Given the description of an element on the screen output the (x, y) to click on. 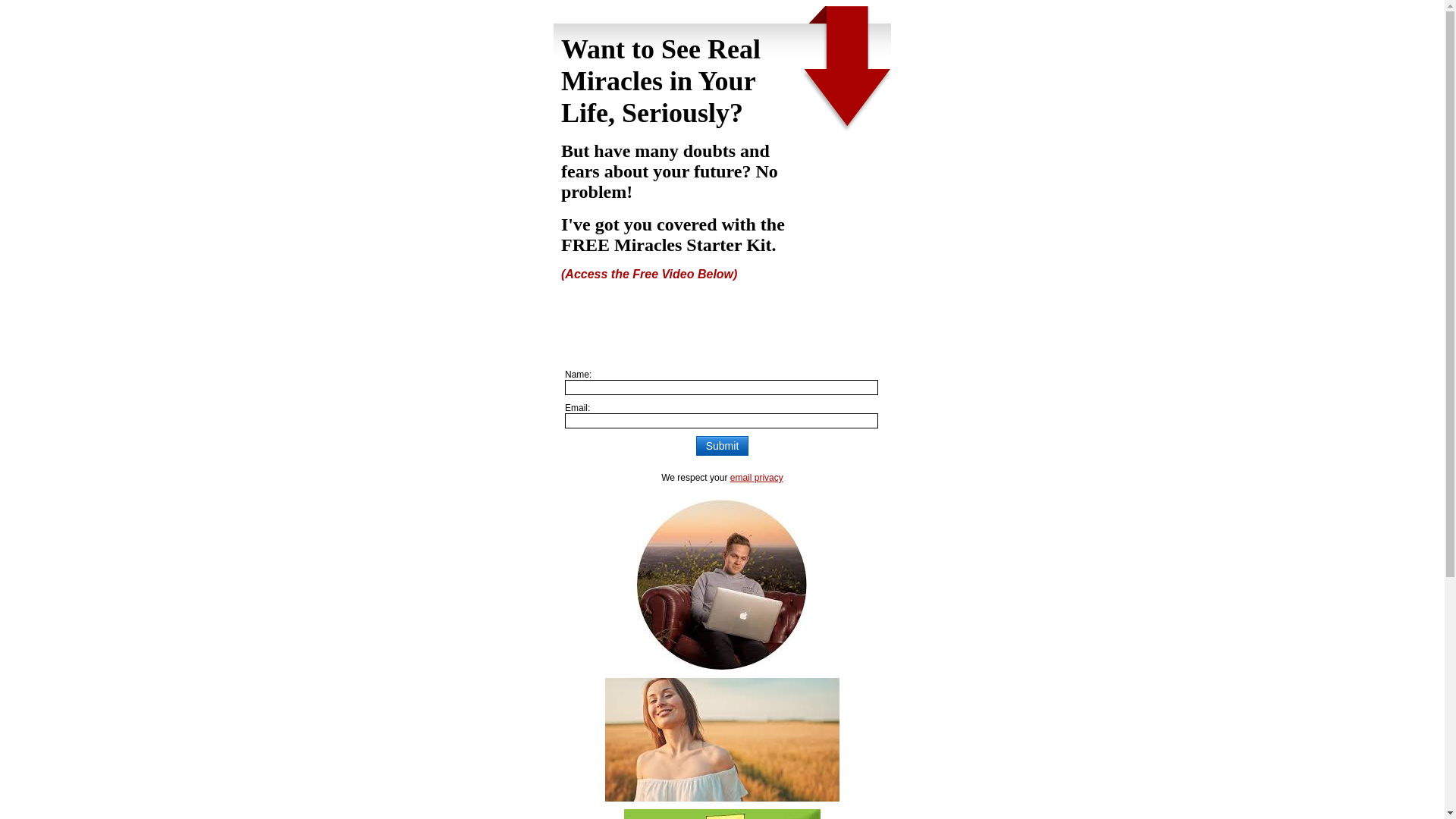
Submit (722, 445)
Privacy Policy (756, 477)
email privacy (756, 477)
Submit (722, 445)
